Given the description of an element on the screen output the (x, y) to click on. 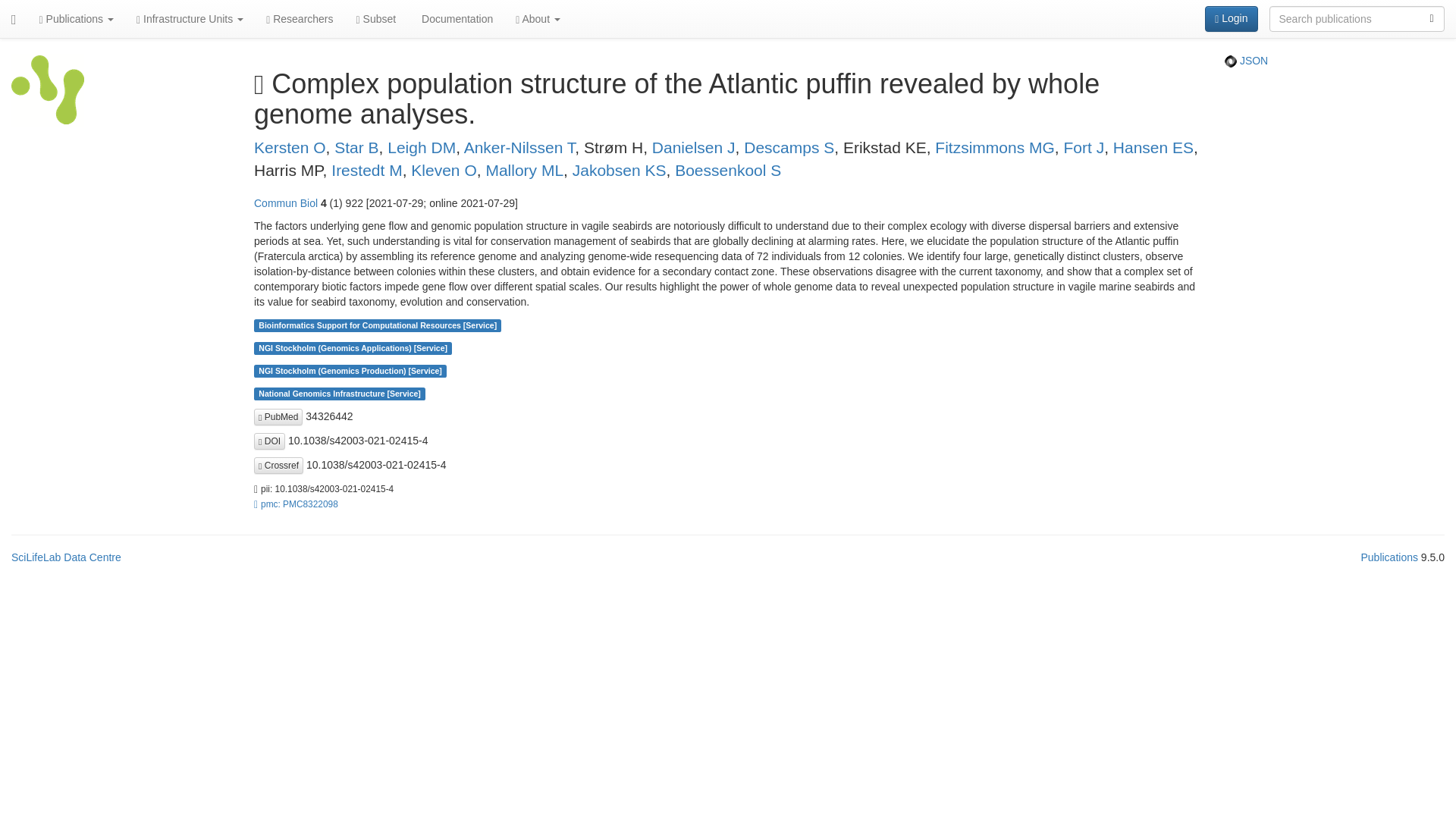
Researchers (298, 18)
SciLifeLab Infrastructure Units Publications (47, 94)
Publications (76, 18)
Star B (356, 147)
Danielsen J (693, 147)
About (537, 18)
Leigh DM (421, 147)
Infrastructure Units (189, 18)
Kersten O (289, 147)
Login (1231, 18)
Documentation (455, 18)
JSON (1246, 60)
Anker-Nilssen T (519, 147)
Subset (376, 18)
Descamps S (789, 147)
